Given the description of an element on the screen output the (x, y) to click on. 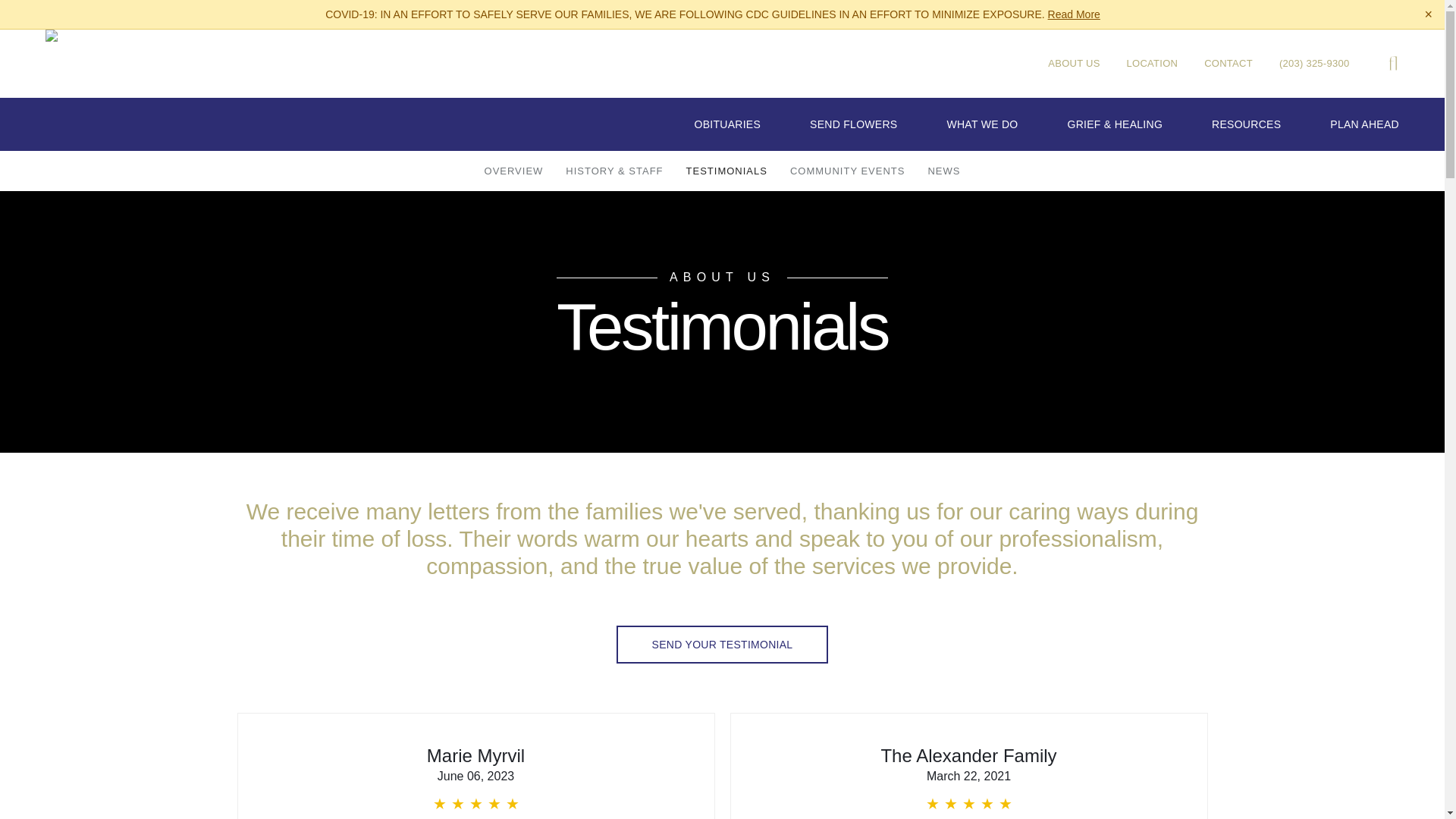
OBITUARIES (727, 123)
CONTACT (1228, 62)
PLAN AHEAD (1364, 123)
COMMUNITY EVENTS (847, 170)
RESOURCES (1246, 123)
Read More (1074, 14)
LOCATION (1151, 62)
SEND FLOWERS (852, 123)
Skip to content (32, 15)
TESTIMONIALS (726, 170)
